Given the description of an element on the screen output the (x, y) to click on. 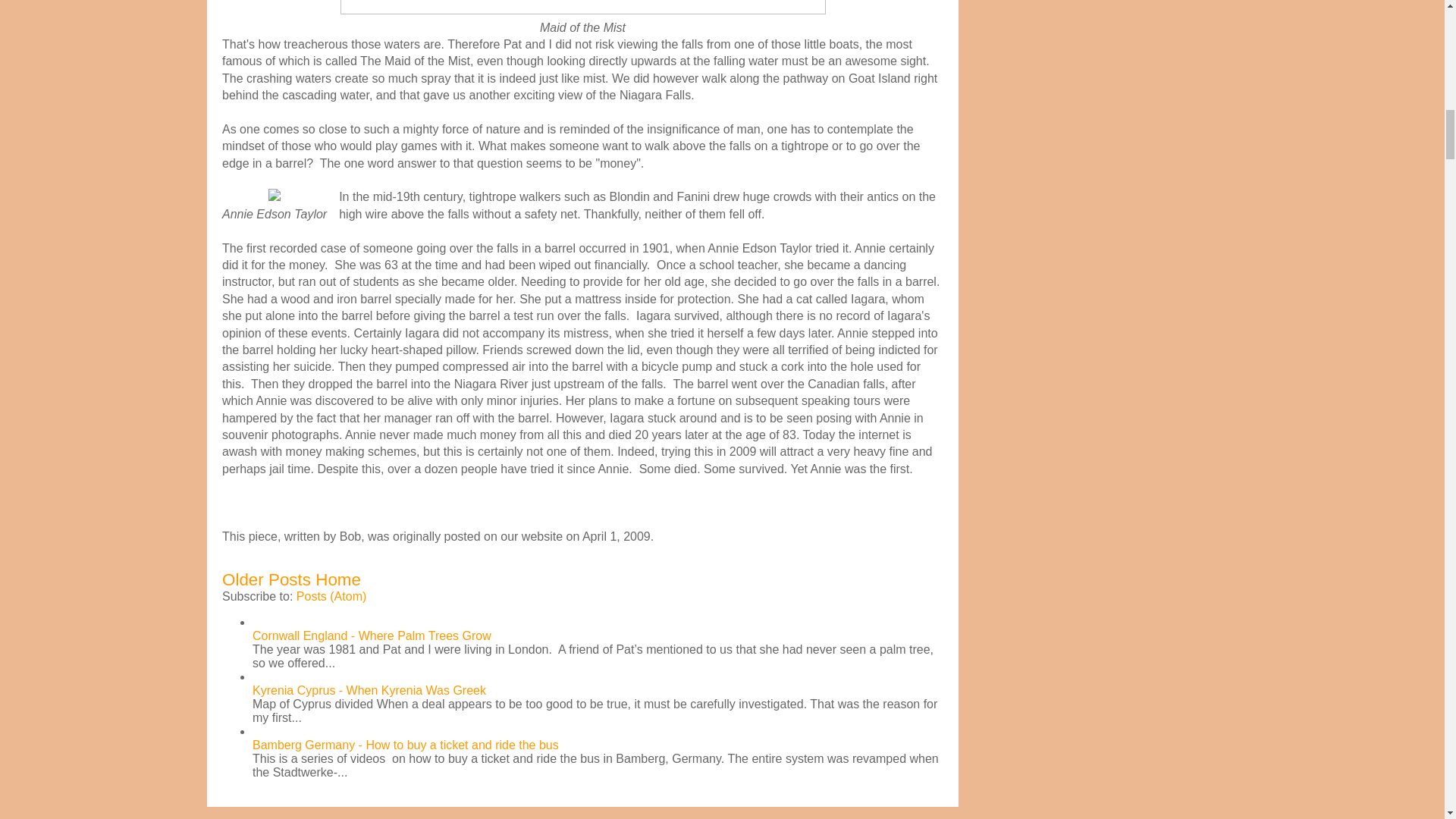
Older Posts (266, 579)
Older Posts (266, 579)
Home (338, 579)
Kyrenia Cyprus - When Kyrenia Was Greek (368, 689)
Cornwall England - Where Palm Trees Grow (371, 635)
Bamberg Germany - How to buy a ticket and ride the bus (405, 744)
